Given the description of an element on the screen output the (x, y) to click on. 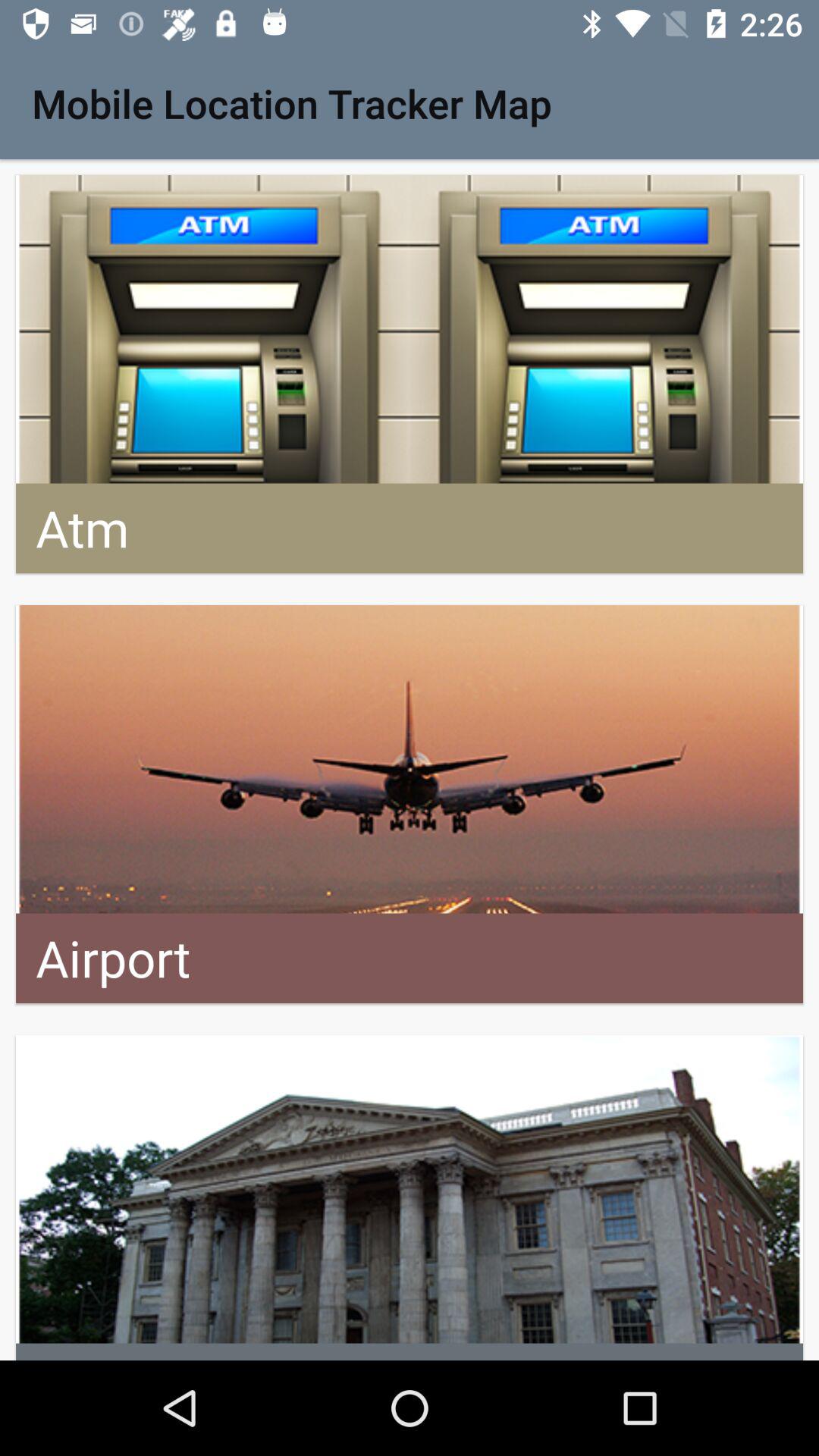
advertisement (409, 1197)
